Given the description of an element on the screen output the (x, y) to click on. 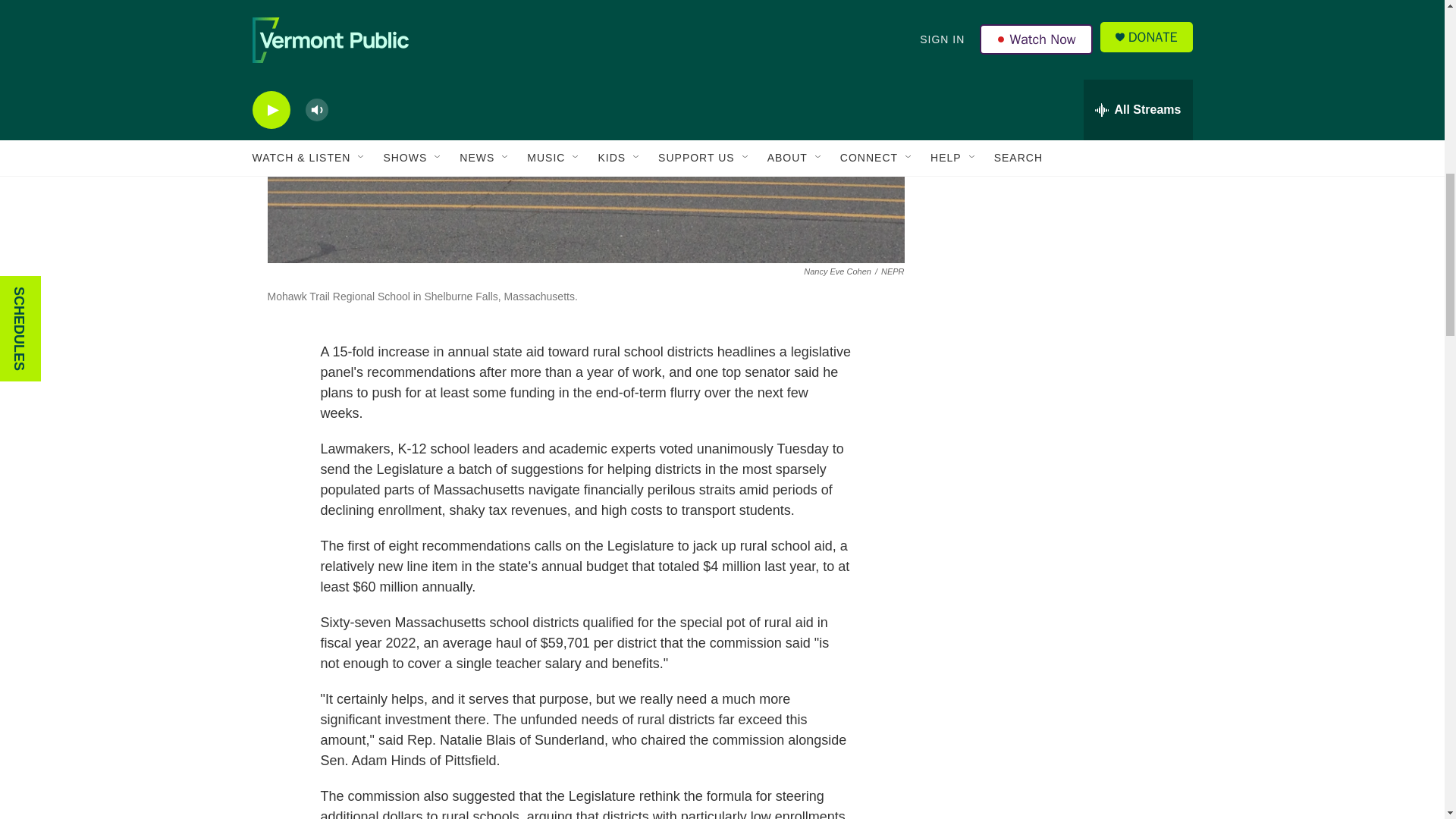
3rd party ad content (1062, 343)
3rd party ad content (1062, 124)
